Given the description of an element on the screen output the (x, y) to click on. 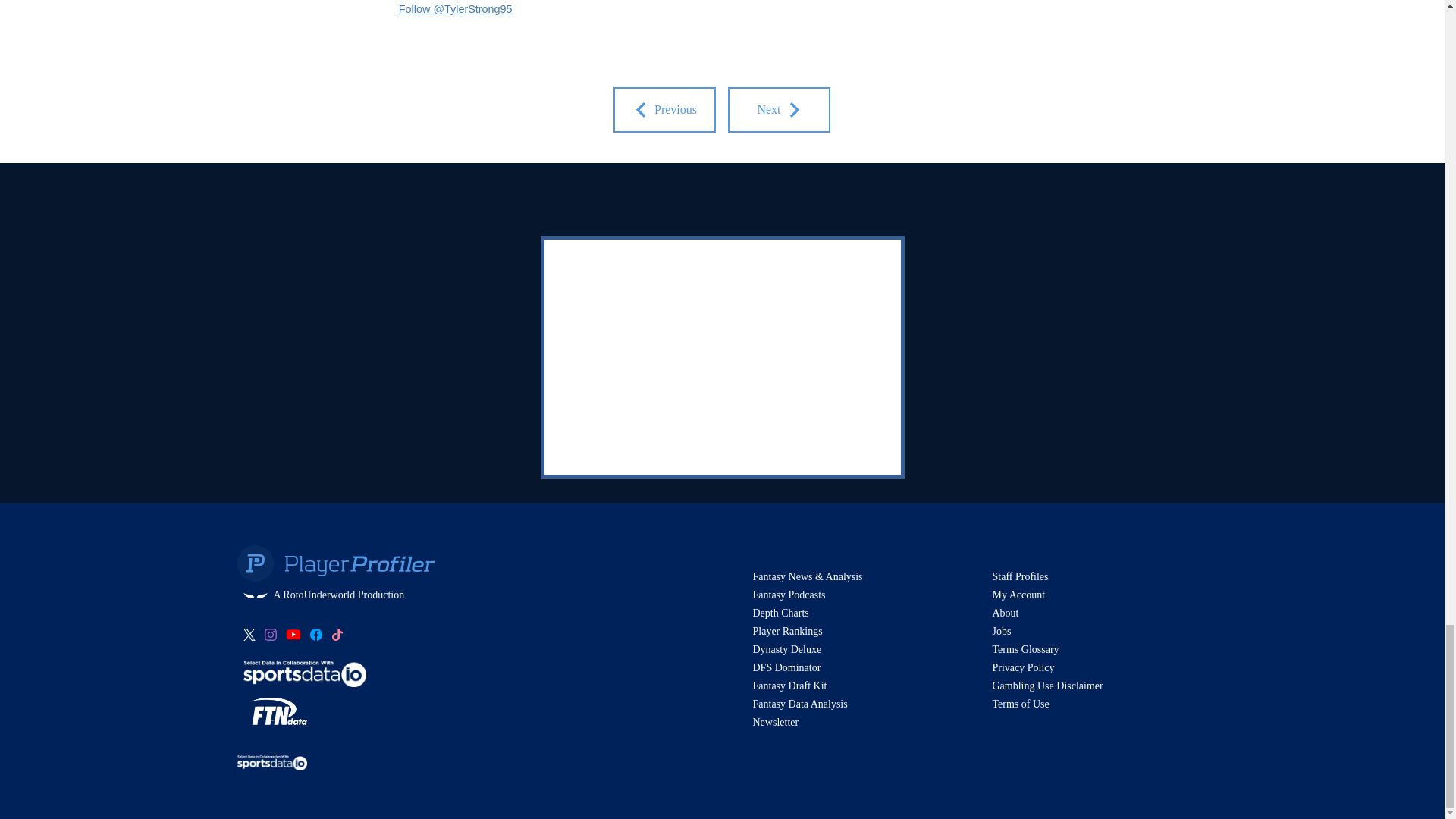
PlayerProfiler on X (248, 634)
RotoUnderworld on Instagram (269, 634)
RotoUnderworld on Facebook (314, 634)
RotoUnderworld on Sound Cloud (336, 634)
RotoUnderworld on YouTube (292, 634)
